Given the description of an element on the screen output the (x, y) to click on. 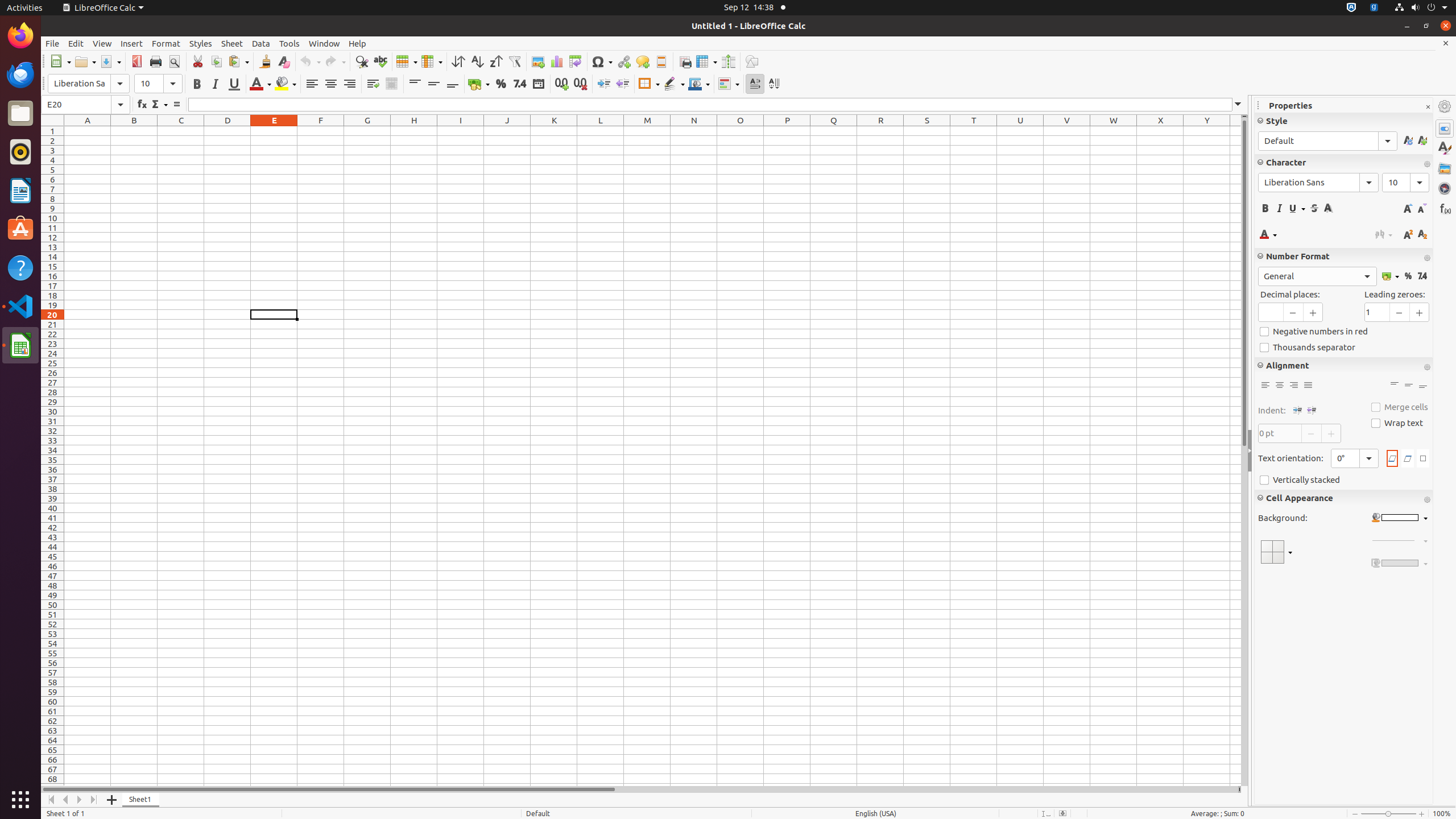
Center Vertically Element type: push-button (433, 83)
Move Left Element type: push-button (65, 799)
Save Element type: push-button (109, 61)
U1 Element type: table-cell (1020, 130)
Rhythmbox Element type: push-button (20, 151)
